Given the description of an element on the screen output the (x, y) to click on. 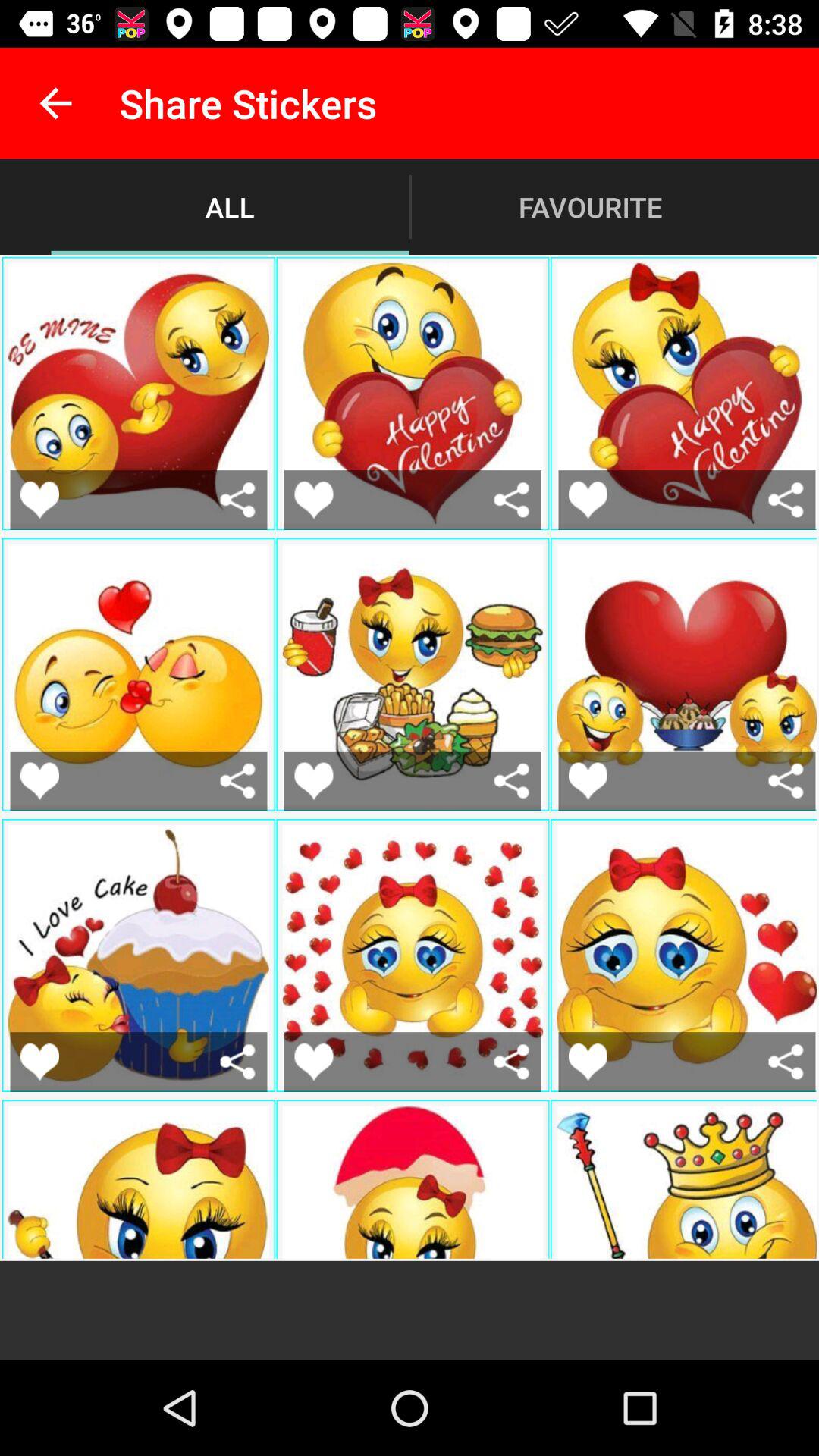
share sticker (785, 499)
